Given the description of an element on the screen output the (x, y) to click on. 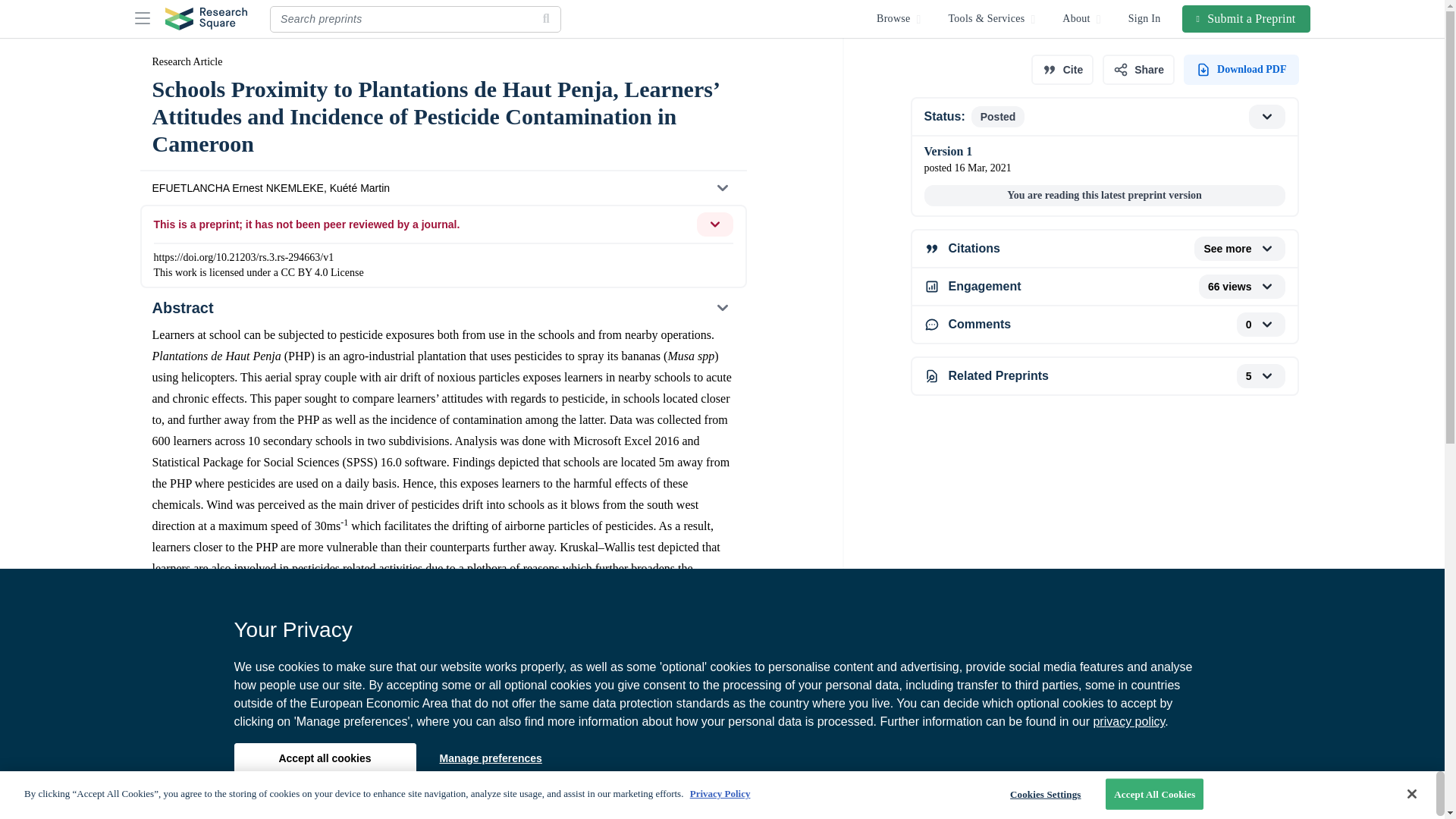
Manage preferences (490, 757)
Environmental Engineering (224, 705)
Full Text (442, 807)
Abstract (442, 307)
Accept all cookies (323, 757)
Sign In (1144, 18)
Submit a Preprint (1246, 18)
Figures (1103, 286)
privacy policy (442, 777)
Cite (1128, 721)
